Given the description of an element on the screen output the (x, y) to click on. 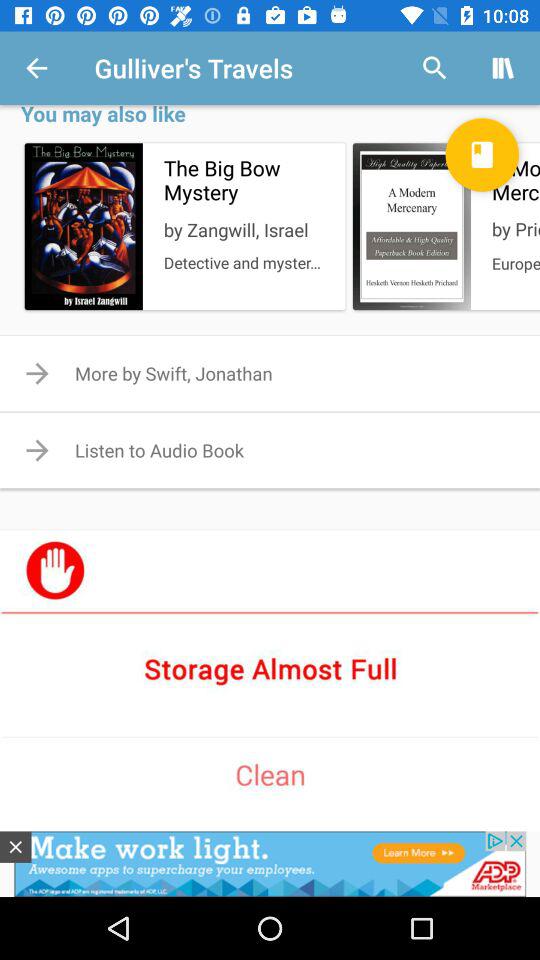
visit sponsor advertisement (270, 668)
